Given the description of an element on the screen output the (x, y) to click on. 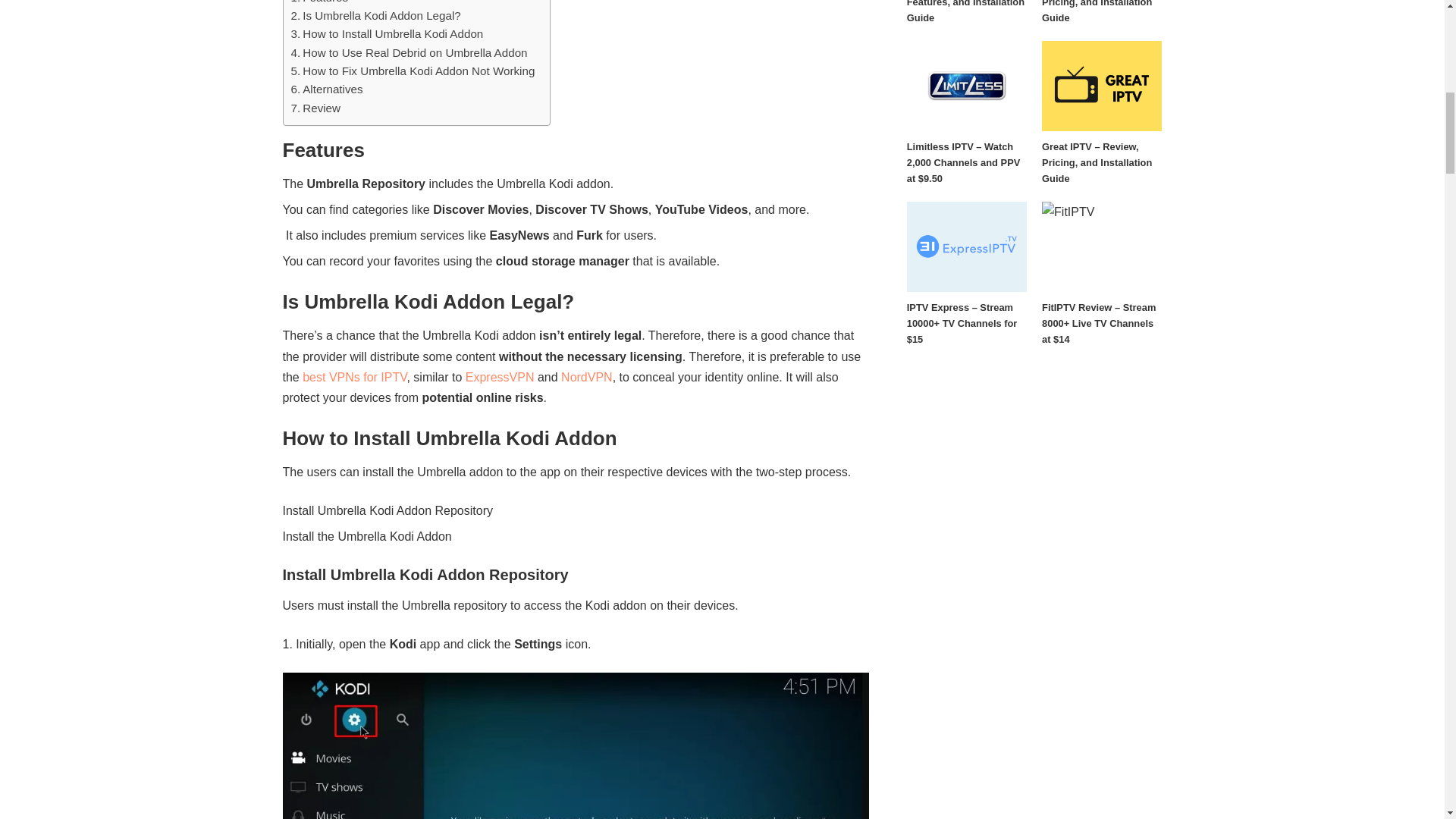
Is Umbrella Kodi Addon Legal? (376, 15)
Alternatives (326, 89)
Features (320, 3)
How to Fix Umbrella Kodi Addon Not Working (413, 71)
How to Install Umbrella Kodi Addon (387, 34)
How to Use Real Debrid on Umbrella Addon (409, 53)
